Given the description of an element on the screen output the (x, y) to click on. 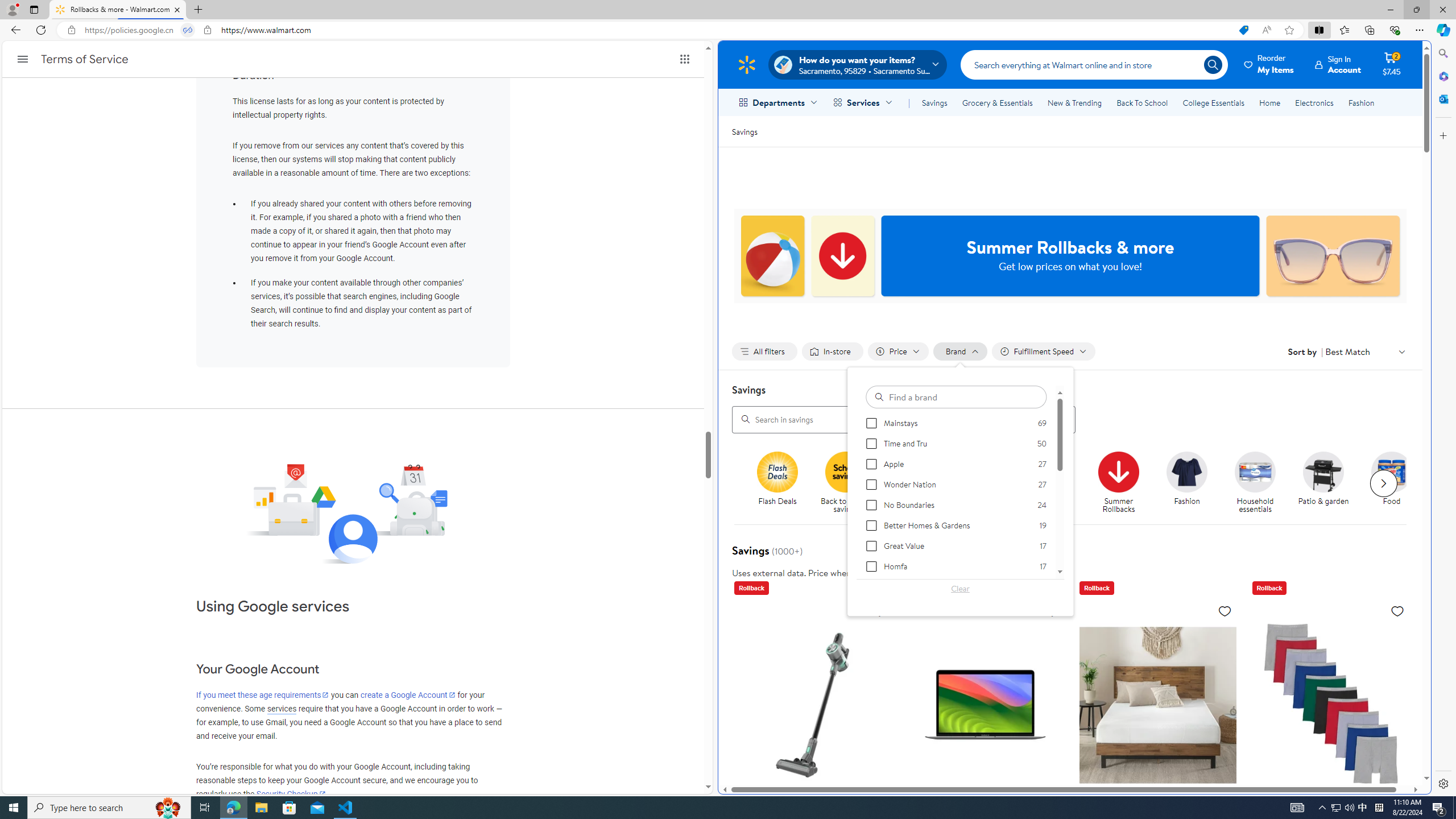
Household essentials (1259, 483)
Summer Rollbacks (1117, 471)
New & Trending (1075, 102)
Fashion (1361, 102)
College Essentials (1213, 102)
Next slide for chipModuleWithImages list (1383, 483)
Fashion (1191, 483)
$20 and under (982, 471)
Food (1391, 471)
